Given the description of an element on the screen output the (x, y) to click on. 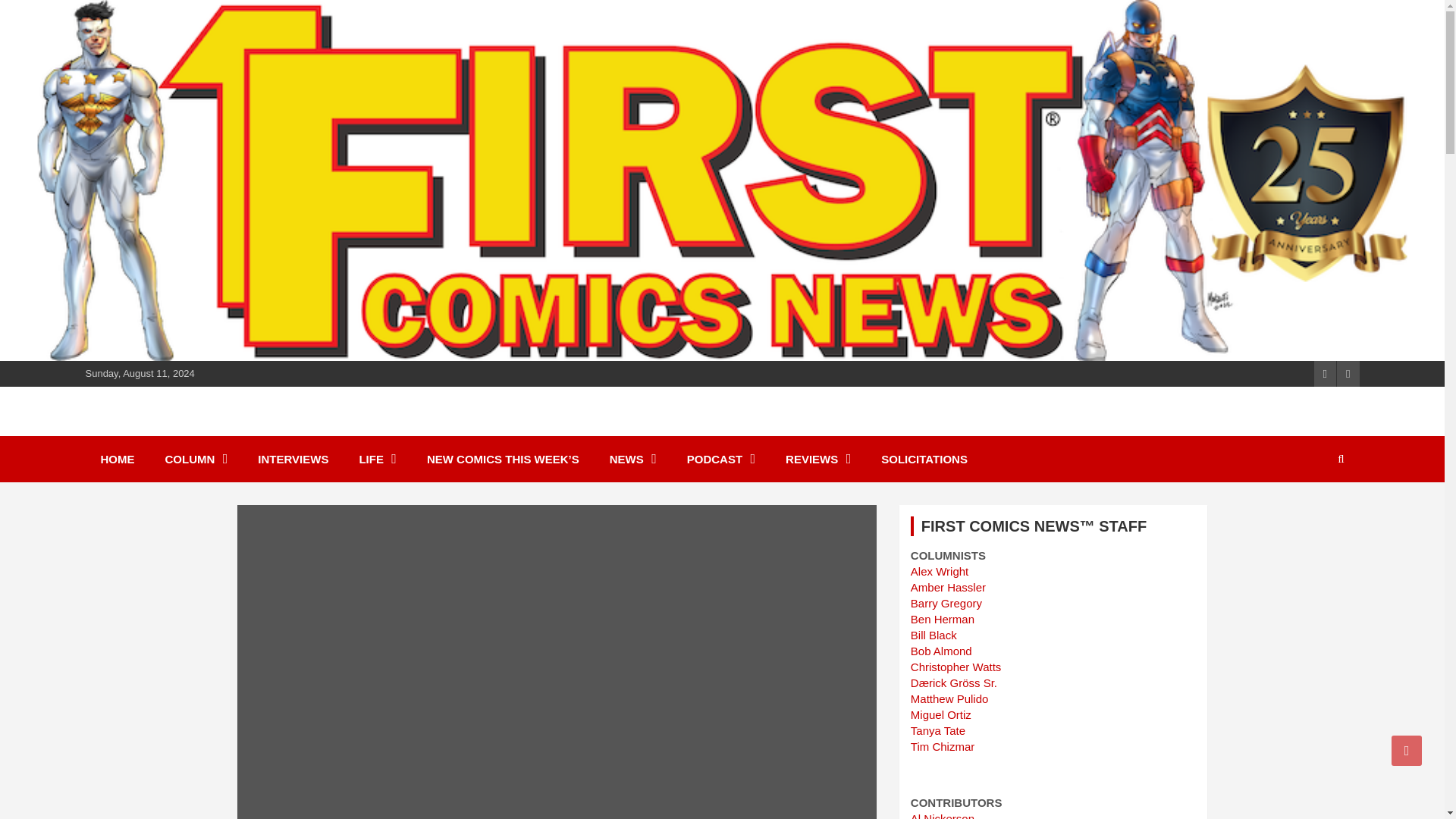
PODCAST (720, 458)
NEWS (632, 458)
Go to Top (1406, 750)
HOME (116, 458)
INTERVIEWS (293, 458)
LIFE (377, 458)
COLUMN (196, 458)
REVIEWS (818, 458)
First Comics News (220, 428)
